Given the description of an element on the screen output the (x, y) to click on. 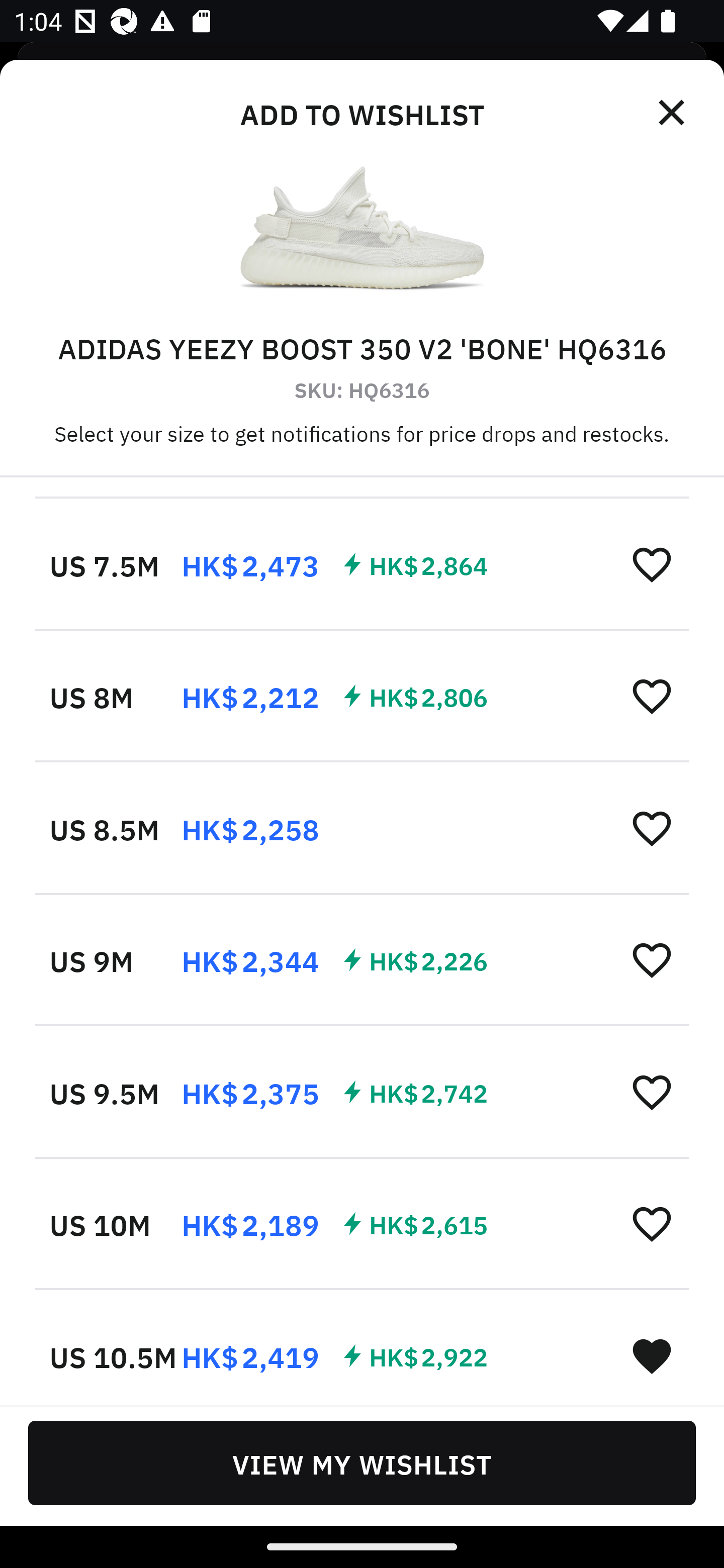
 (672, 112)
󰋕 (651, 563)
󰋕 (651, 695)
󰋕 (651, 827)
󰋕 (651, 959)
󰋕 (651, 1091)
󰋕 (651, 1223)
󰋑 (651, 1355)
VIEW MY WISHLIST (361, 1462)
